Given the description of an element on the screen output the (x, y) to click on. 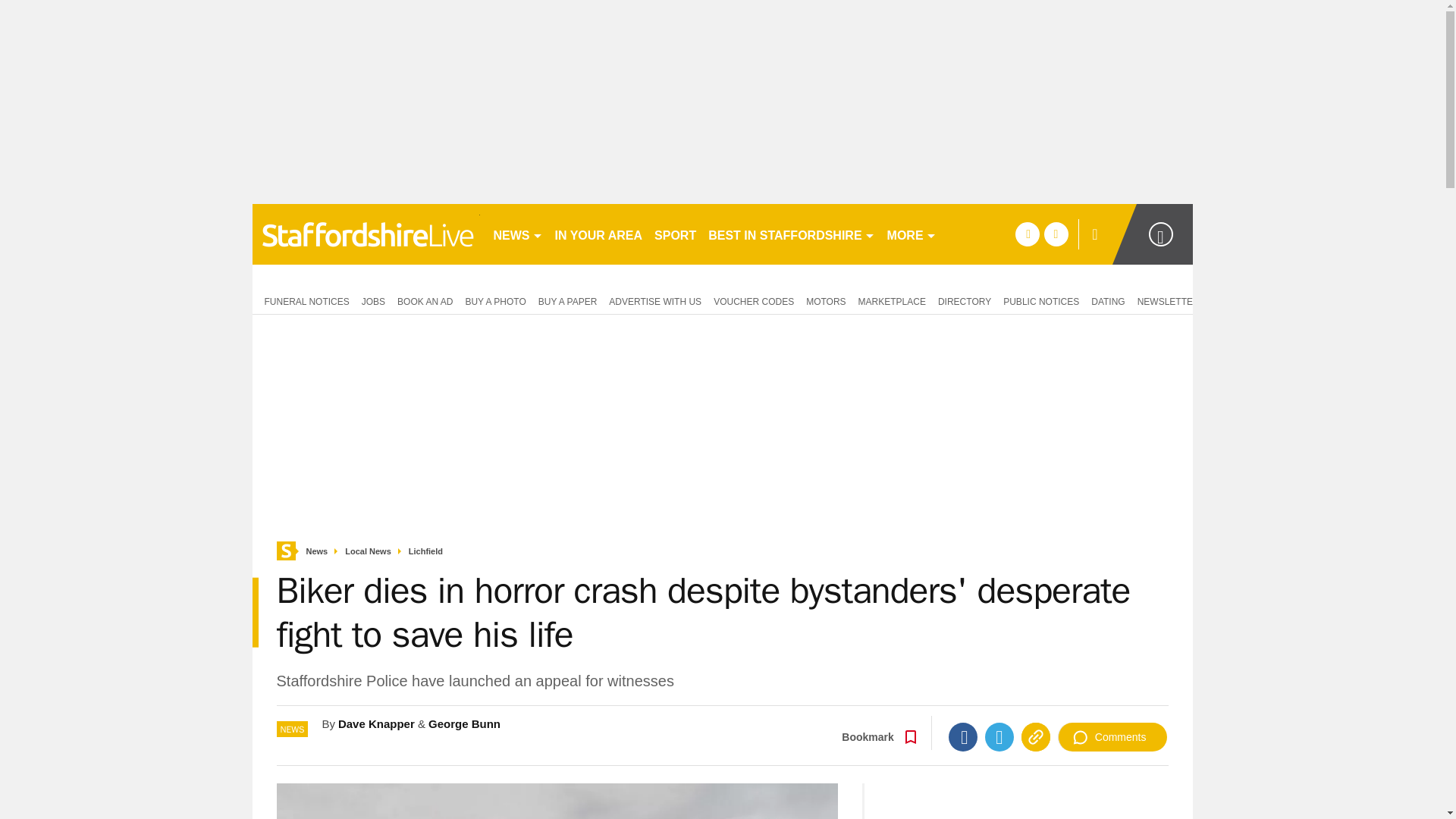
BUY A PAPER (568, 300)
JOBS (373, 300)
MARKETPLACE (891, 300)
MOTORS (825, 300)
Facebook (962, 736)
BUY A PHOTO (494, 300)
Twitter (999, 736)
facebook (1026, 233)
burtonmail (365, 233)
PUBLIC NOTICES (1040, 300)
BOOK AN AD (424, 300)
VOUCHER CODES (753, 300)
FUNERAL NOTICES (303, 300)
twitter (1055, 233)
NEWS (517, 233)
